Given the description of an element on the screen output the (x, y) to click on. 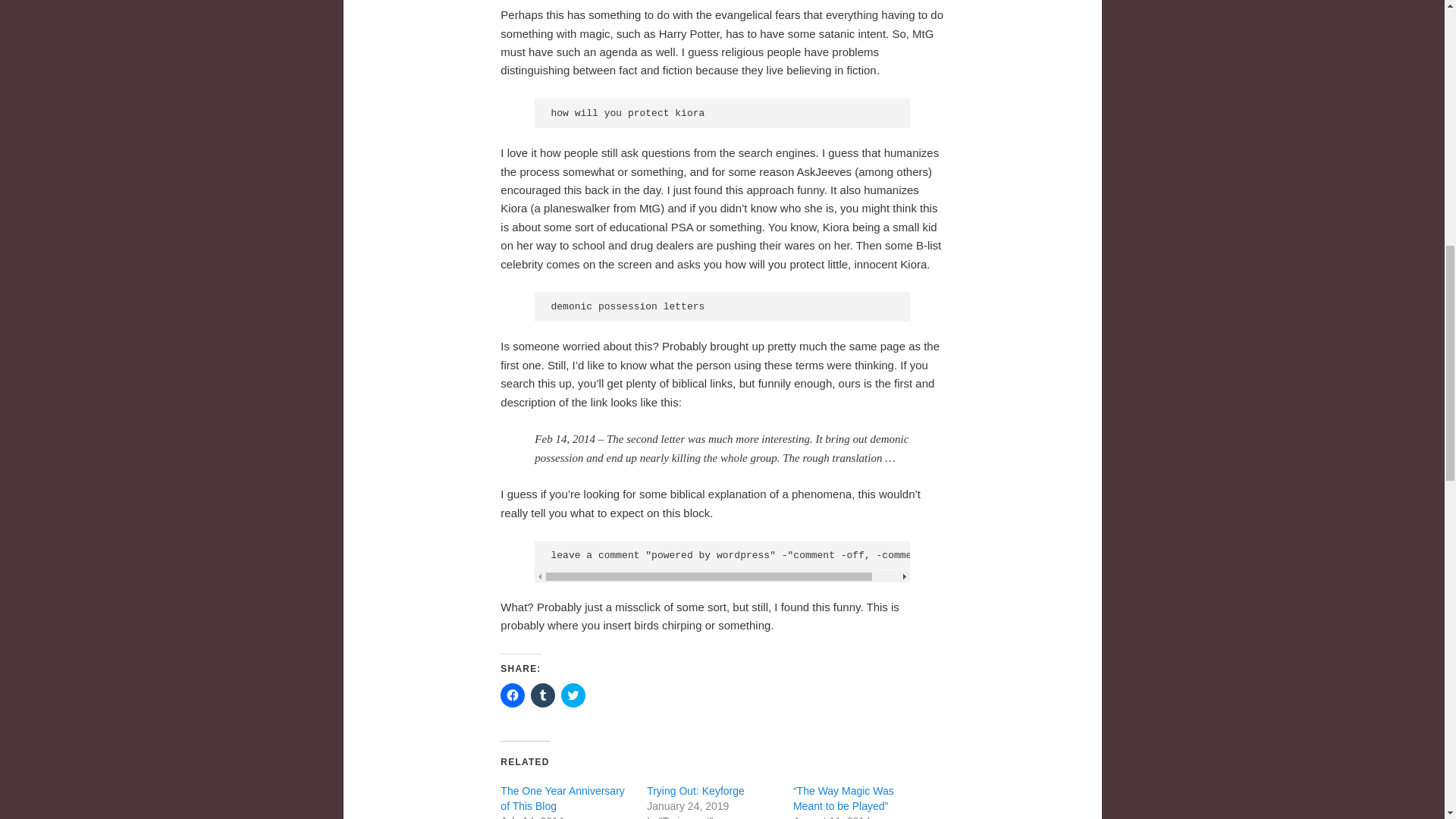
Click to share on Twitter (572, 695)
Trying Out: Keyforge (695, 790)
Click to share on Tumblr (542, 695)
The One Year Anniversary of This Blog (562, 798)
The One Year Anniversary of This Blog (562, 798)
Click to share on Facebook (512, 695)
Trying Out: Keyforge (695, 790)
